Given the description of an element on the screen output the (x, y) to click on. 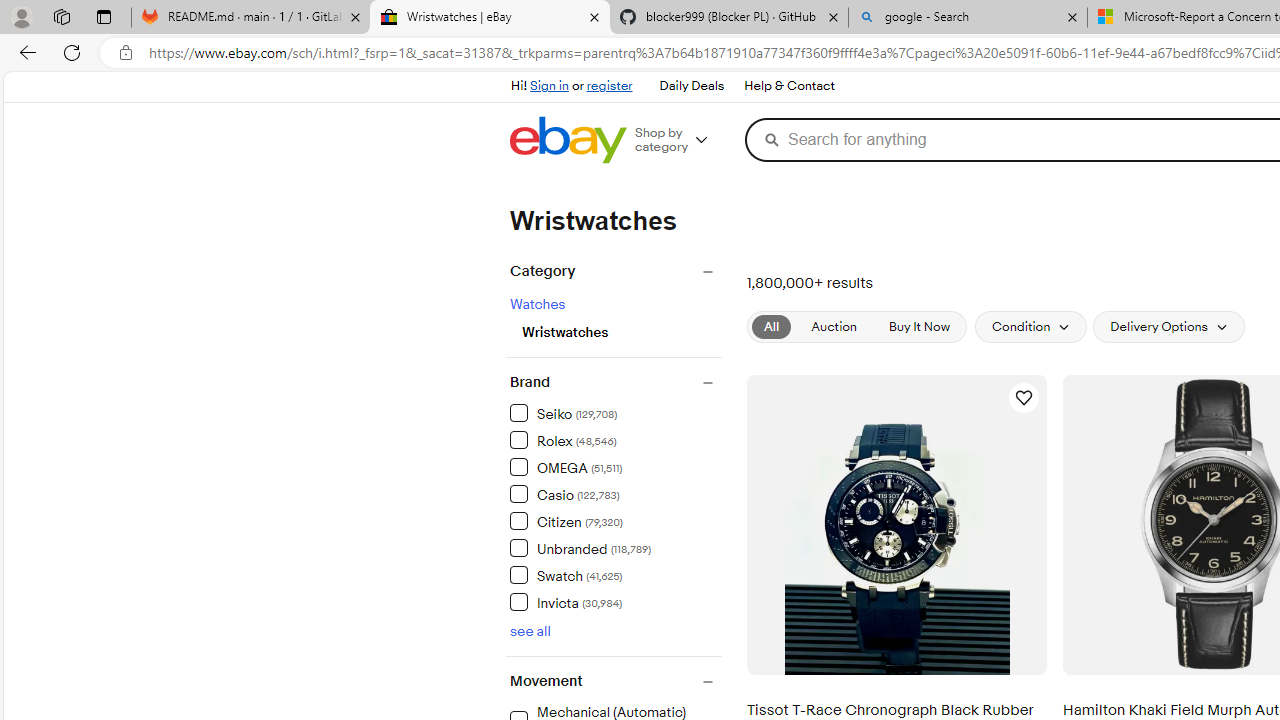
Seiko (129,708) Items (563, 412)
register (609, 85)
Auction (833, 327)
Casio(122,783) Items (615, 493)
All (771, 326)
Shop by category (678, 140)
All selected (772, 327)
eBay Home (568, 139)
Citizen(79,320) Items (615, 520)
Unbranded (118,789) Items (580, 548)
